Given the description of an element on the screen output the (x, y) to click on. 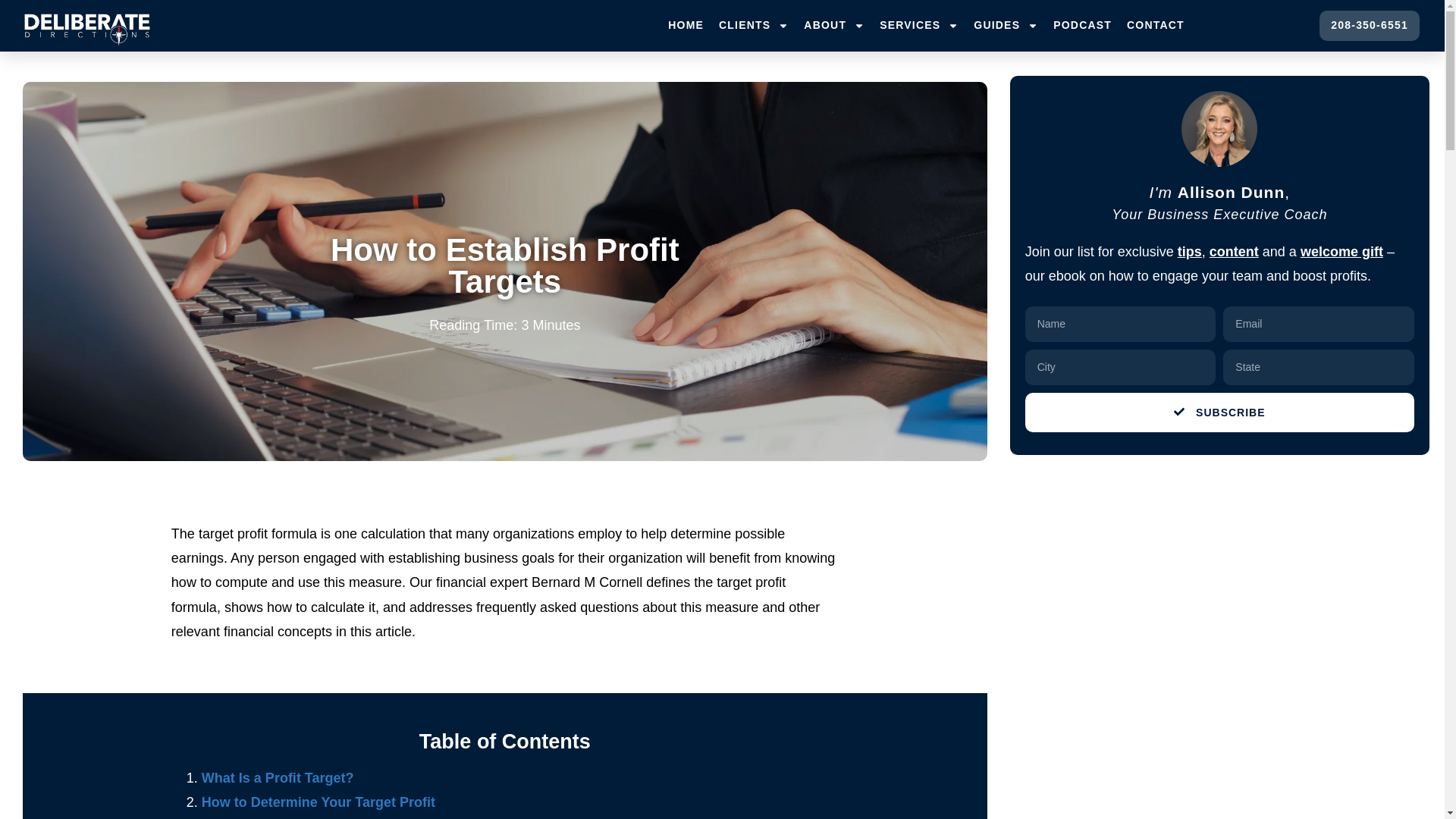
HOME (686, 25)
CLIENTS (753, 25)
SERVICES (919, 25)
CONTACT (1155, 25)
PODCAST (1082, 25)
ABOUT (834, 25)
GUIDES (1005, 25)
